Given the description of an element on the screen output the (x, y) to click on. 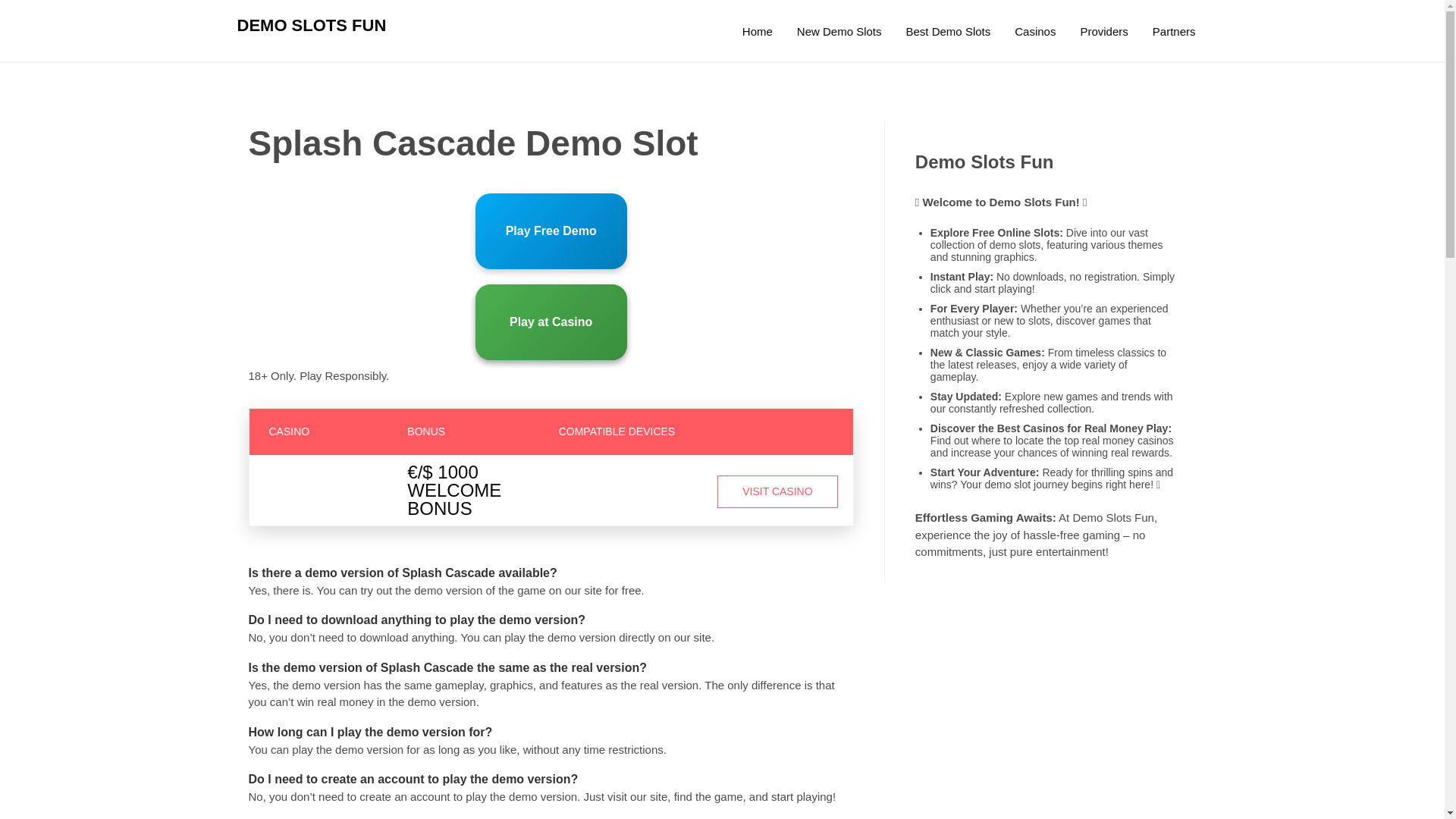
Demo Slots Fun (757, 31)
Casinos (1035, 31)
Partners (1174, 31)
Best Demo Slots (948, 31)
New Demo Slots (838, 31)
DEMO SLOTS FUN (310, 25)
Casinos (1035, 31)
VISIT CASINO (777, 491)
Providers (1103, 31)
New Demo Slots (838, 31)
Play at Casino (551, 322)
Best Demo Slots (948, 31)
Home (757, 31)
Partners (1174, 31)
Play Free Demo (551, 231)
